Given the description of an element on the screen output the (x, y) to click on. 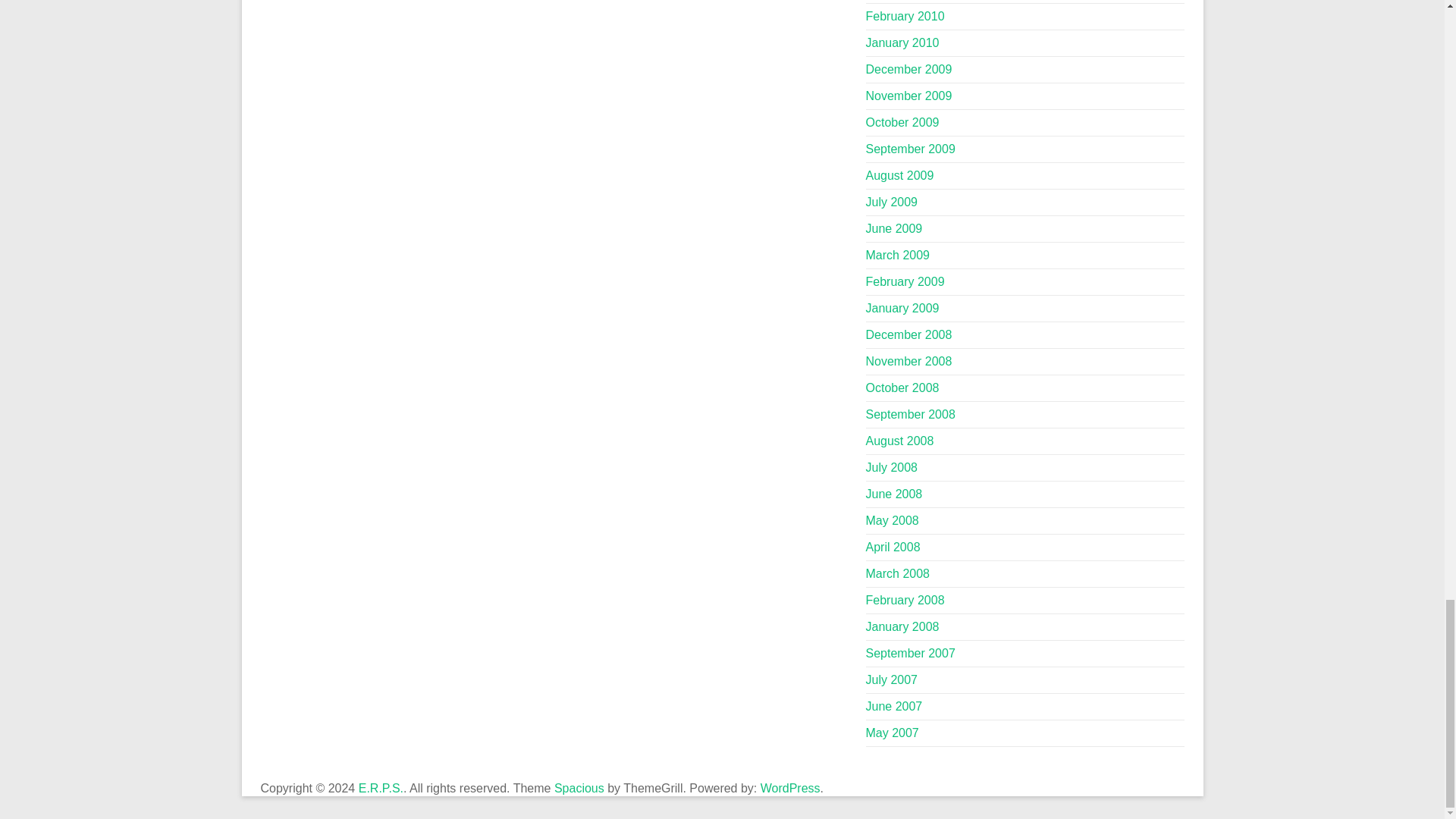
E.R.P.S. (380, 788)
WordPress (790, 788)
Spacious (579, 788)
